Given the description of an element on the screen output the (x, y) to click on. 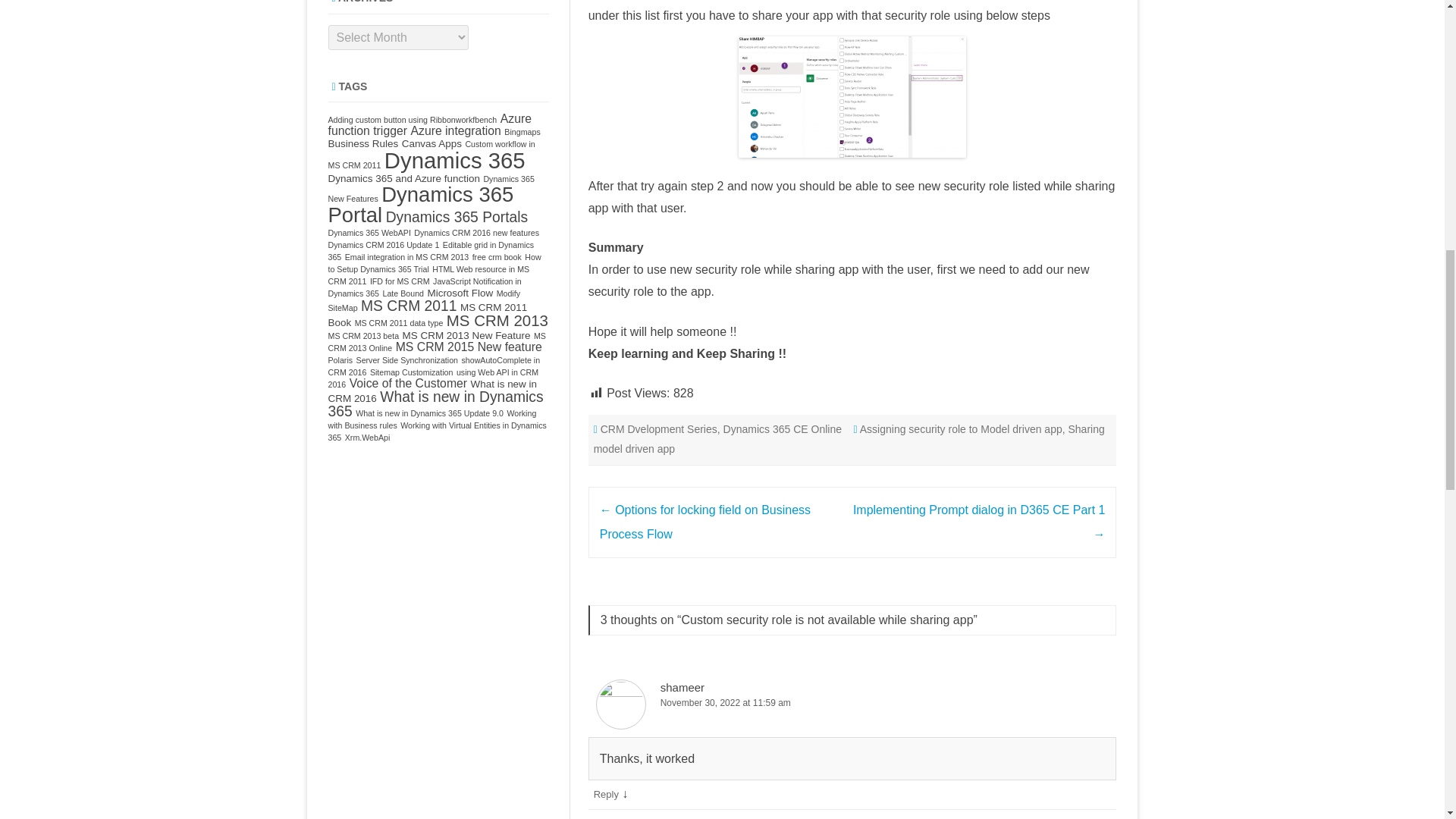
Assigning security role to Model driven app (961, 428)
Sharing model driven app (849, 439)
Reply (606, 794)
Dynamics 365 CE Online (782, 428)
CRM Dvelopment Series (658, 428)
November 30, 2022 at 11:59 am (852, 703)
